Given the description of an element on the screen output the (x, y) to click on. 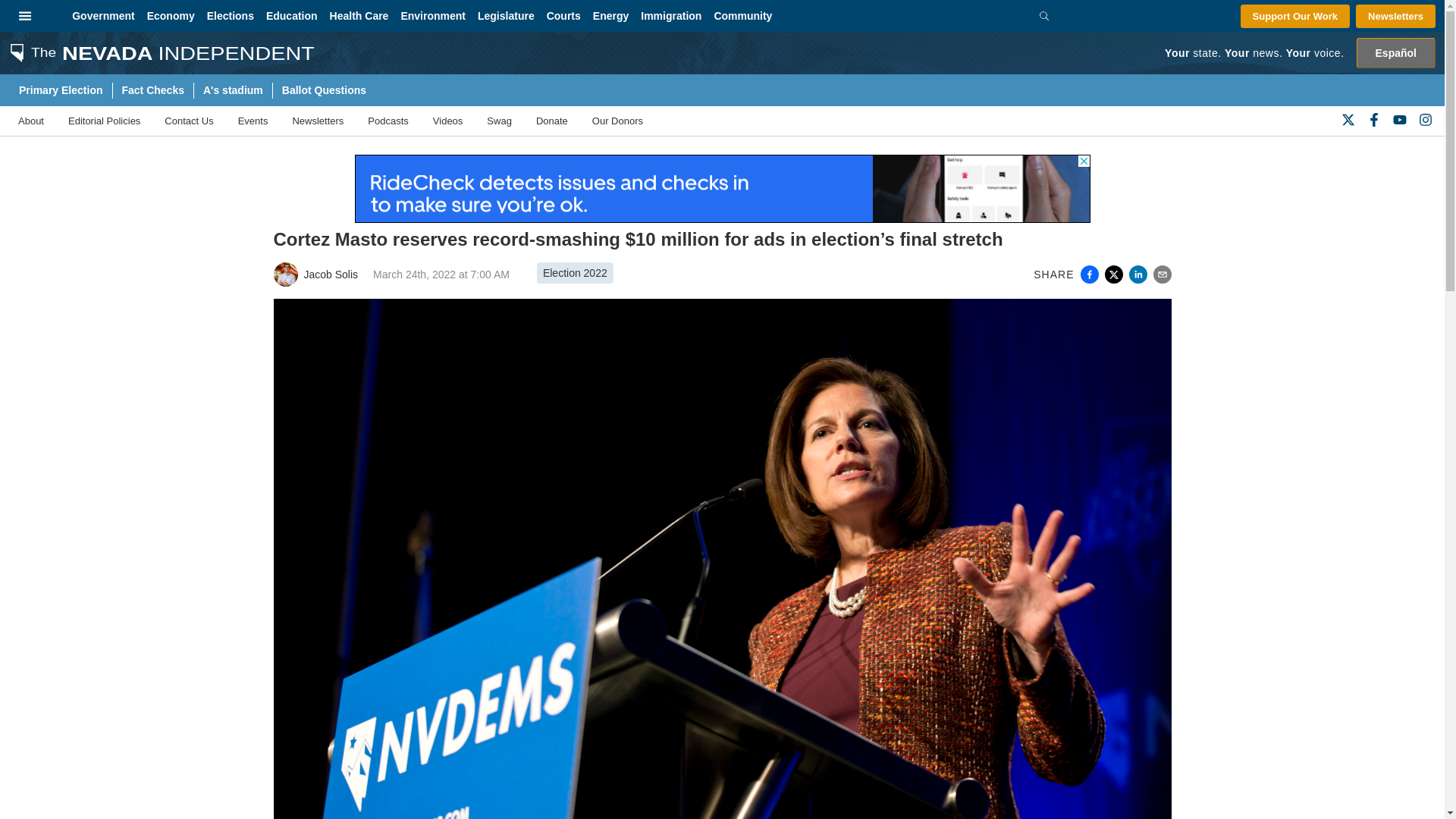
Our Donors (617, 120)
Newsletters (1395, 15)
Economy (170, 15)
A's stadium (232, 90)
Courts (563, 15)
Energy (610, 15)
Podcasts (387, 120)
Contact Us (188, 120)
The NEVADA INDEPENDENT (156, 52)
Primary Election (60, 90)
Immigration (670, 15)
Legislature (505, 15)
Community (742, 15)
Videos (447, 120)
Fact Checks (152, 90)
